Given the description of an element on the screen output the (x, y) to click on. 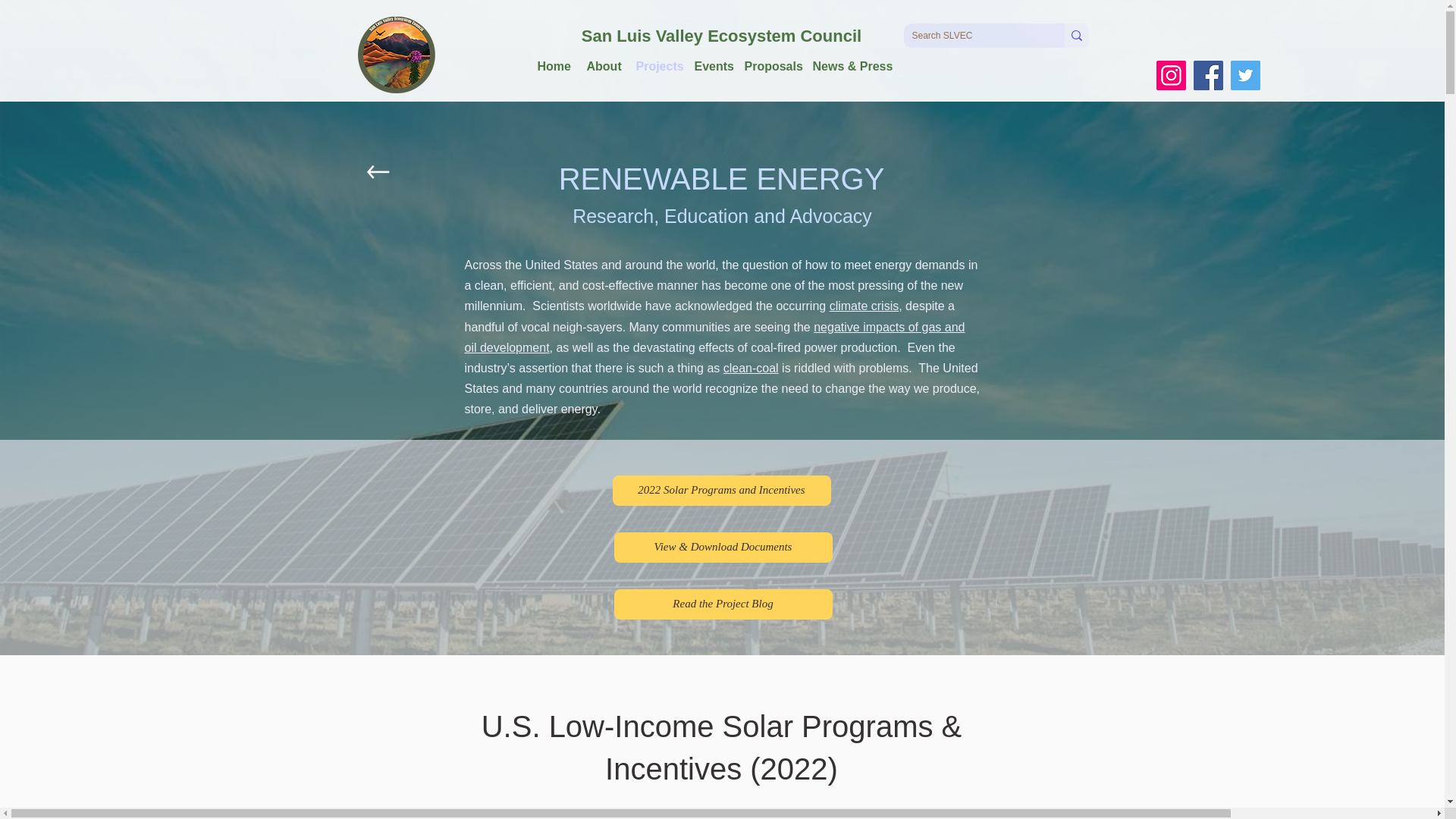
San Luis Valley Ecosystem Council (721, 36)
Projects (656, 65)
Home (553, 65)
About (603, 65)
Events (711, 65)
